Given the description of an element on the screen output the (x, y) to click on. 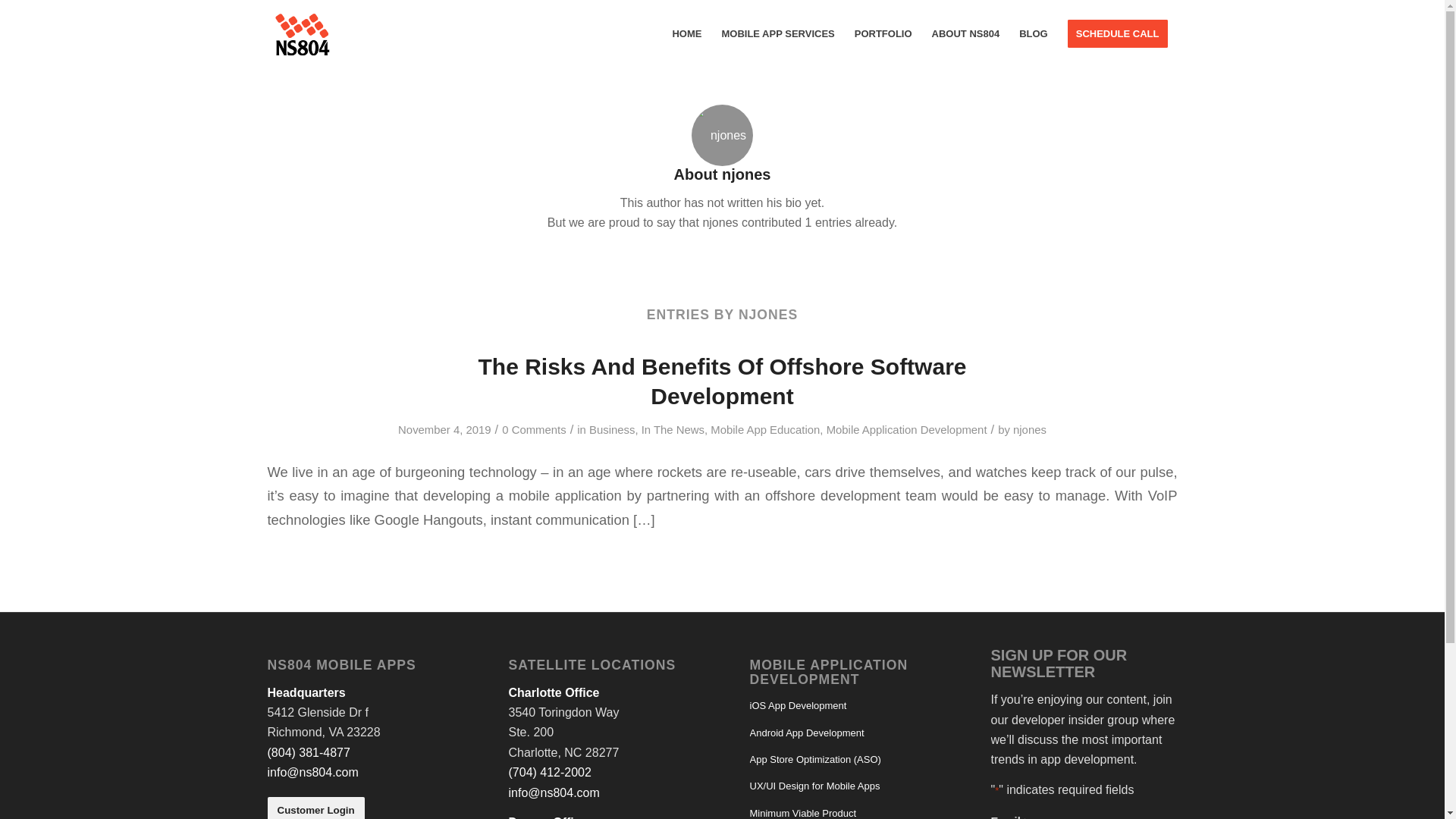
In The News (673, 429)
The Risks And Benefits Of Offshore Software Development (721, 380)
iOS App Development (842, 705)
Android App Development (842, 733)
MOBILE APP SERVICES (777, 33)
Customer Login (315, 807)
Business (611, 429)
njones (1029, 429)
0 Comments (534, 429)
